Given the description of an element on the screen output the (x, y) to click on. 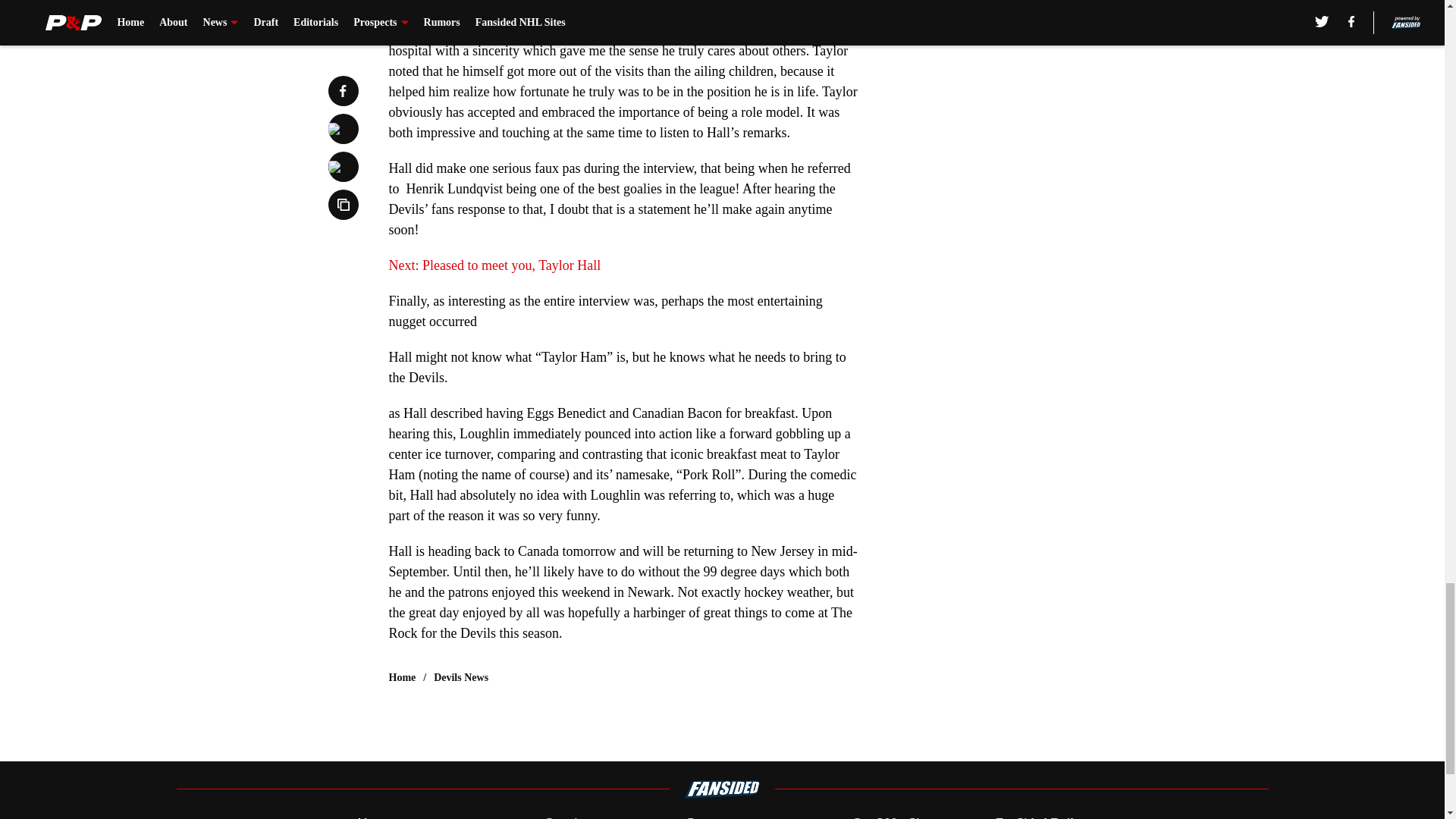
About (370, 816)
Home (401, 677)
Next: Pleased to meet you, Taylor Hall (493, 264)
FanSided Daily (1038, 816)
Devils News (460, 677)
Openings (570, 816)
Contact (705, 816)
